Given the description of an element on the screen output the (x, y) to click on. 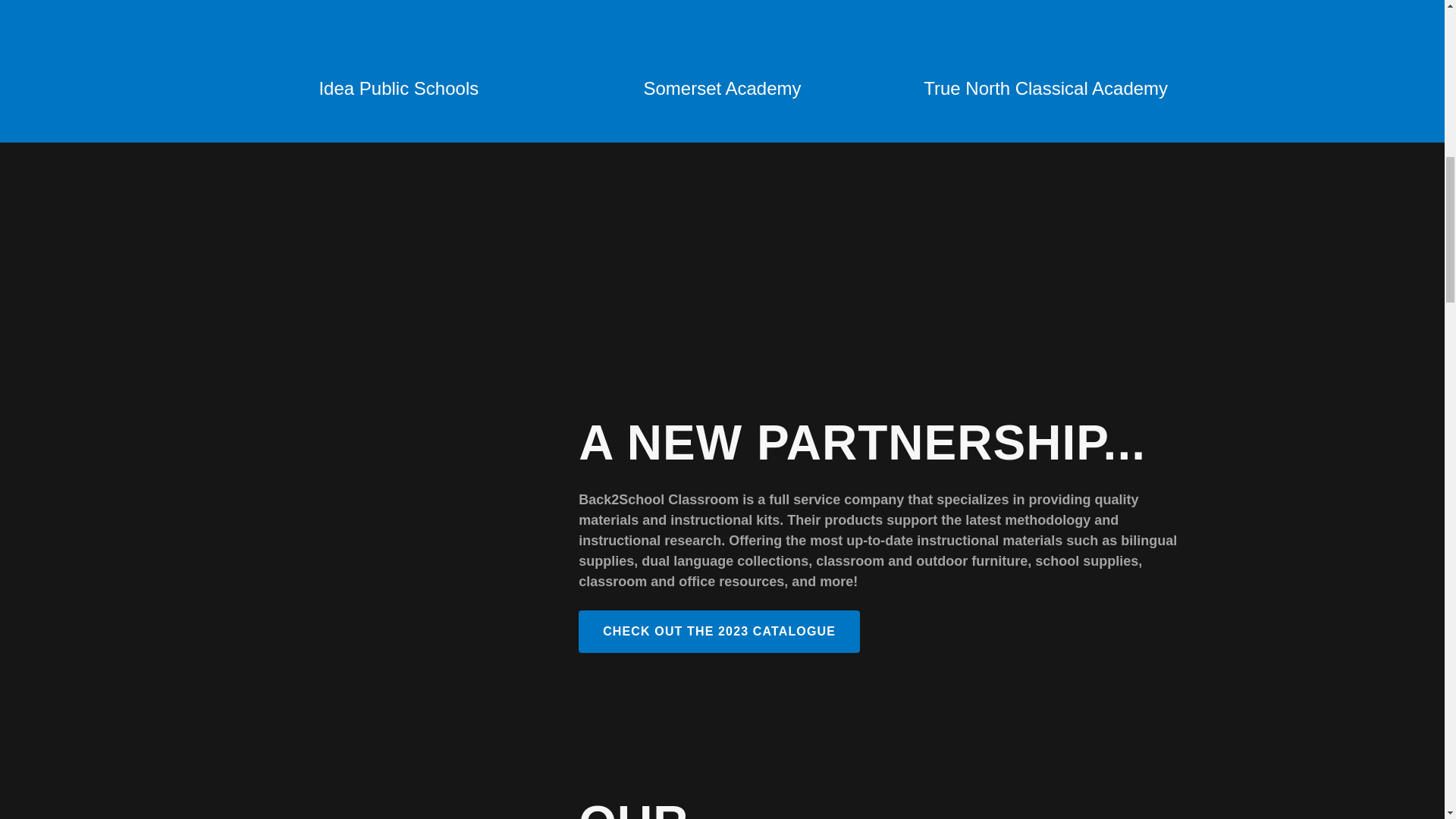
CHECK OUT THE 2023 CATALOGUE (719, 631)
